Given the description of an element on the screen output the (x, y) to click on. 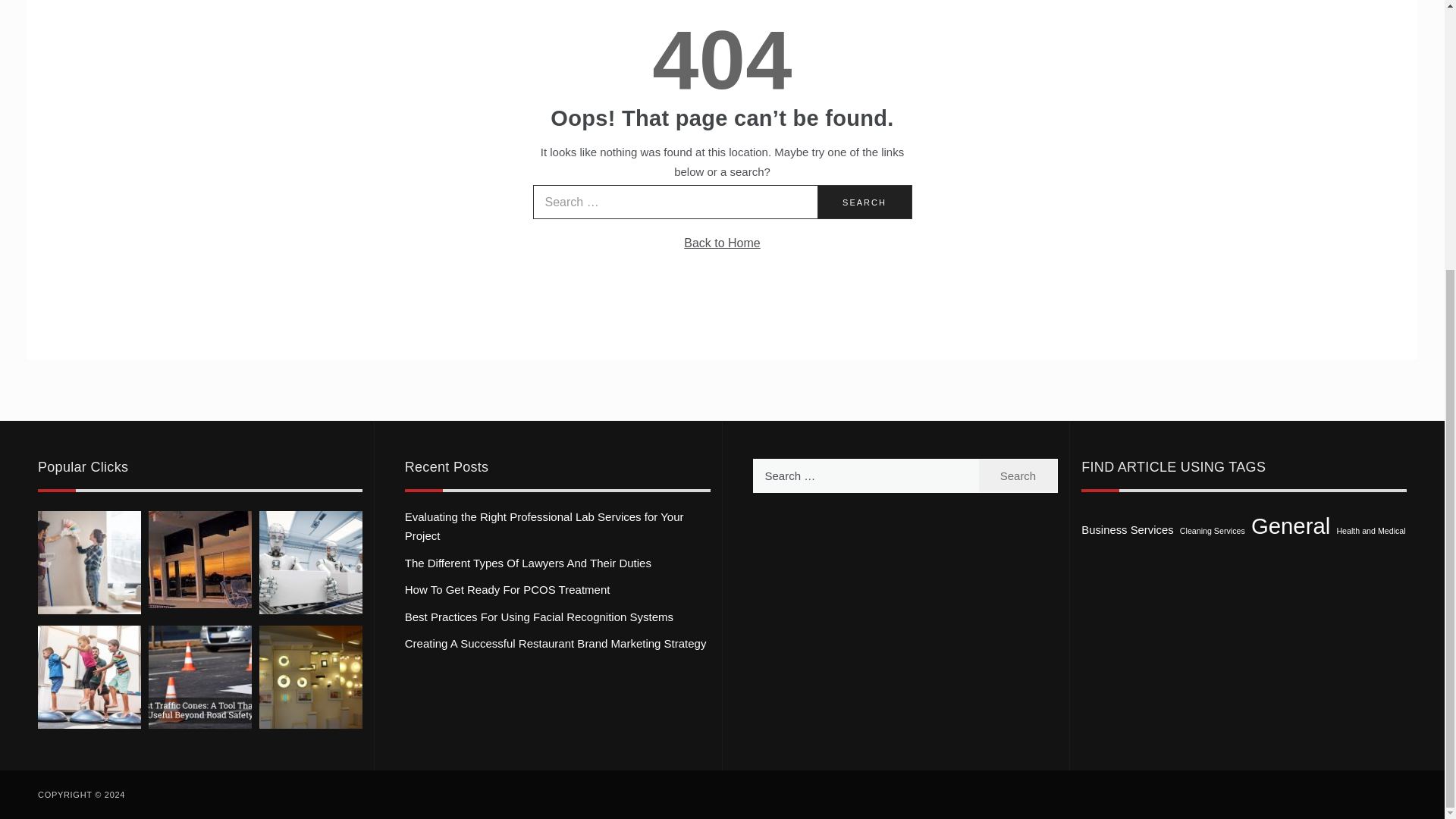
Search (1018, 475)
Search (1018, 475)
Search (864, 202)
Search (864, 202)
